Given the description of an element on the screen output the (x, y) to click on. 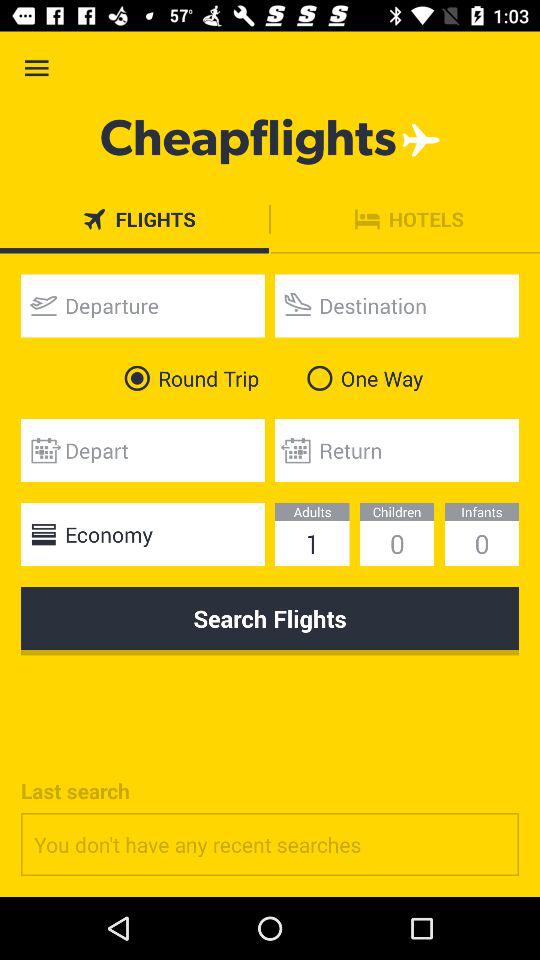
set your departure location (142, 305)
